Given the description of an element on the screen output the (x, y) to click on. 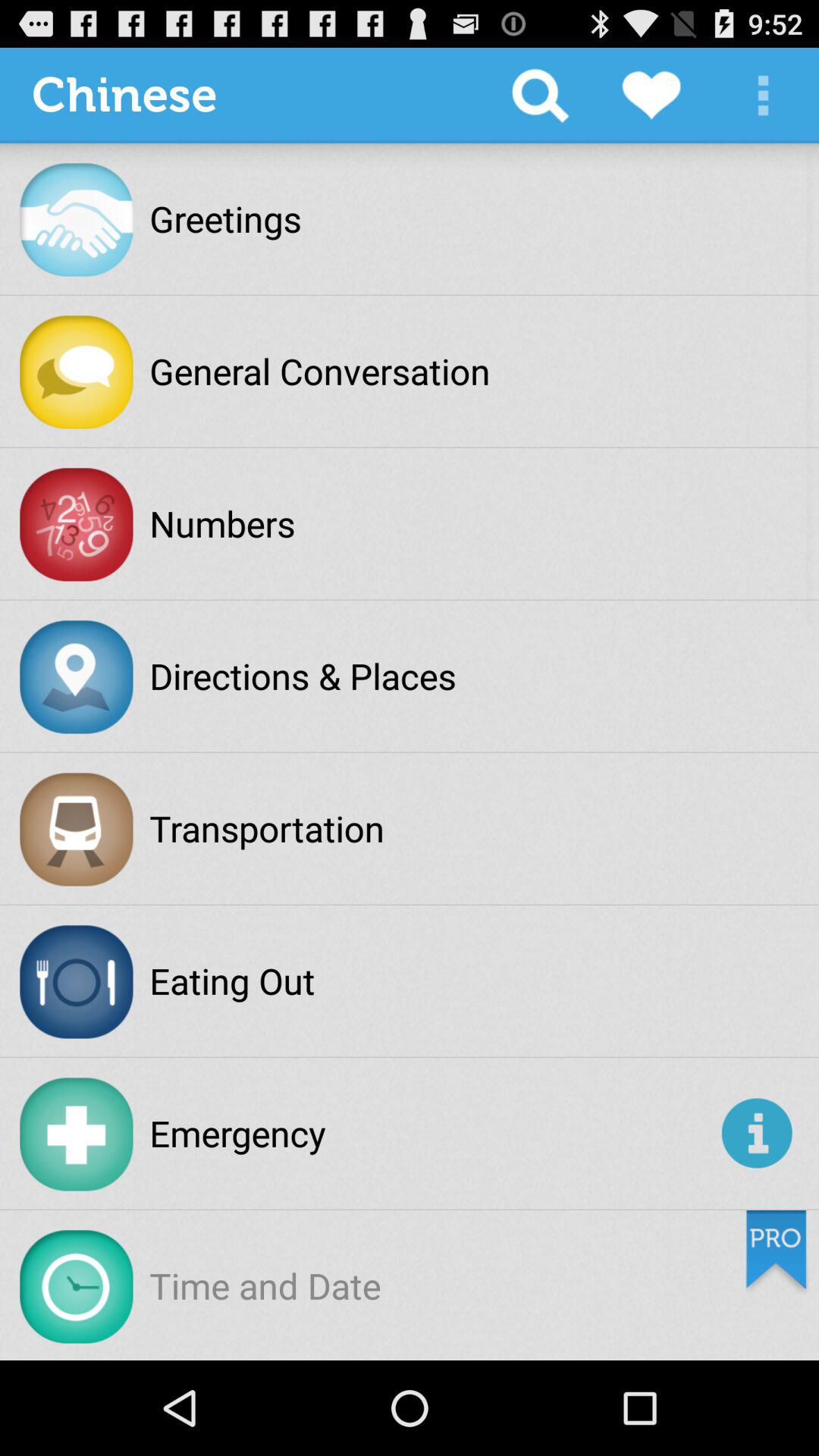
tap the directions & places icon (302, 675)
